Given the description of an element on the screen output the (x, y) to click on. 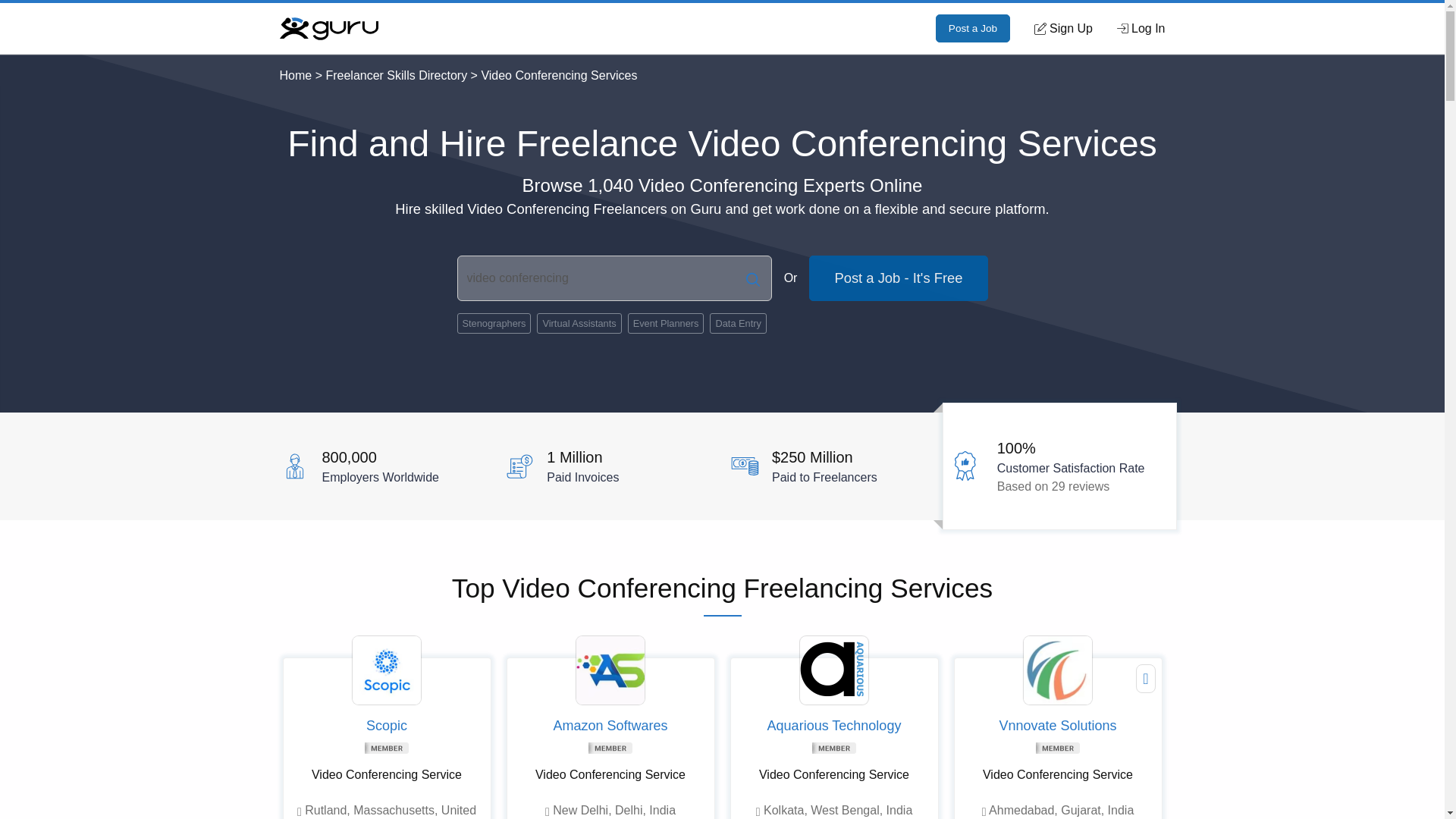
View Service Offered By Aquarious Technology  (833, 670)
Sign Up (1063, 28)
Stenographers (494, 322)
Home (295, 74)
Scopic (387, 726)
Guru (328, 27)
video conferencing (614, 278)
Post a Job (973, 28)
View Service Offered By Vnnovate Solutions  (1057, 670)
Log In (1140, 28)
